Given the description of an element on the screen output the (x, y) to click on. 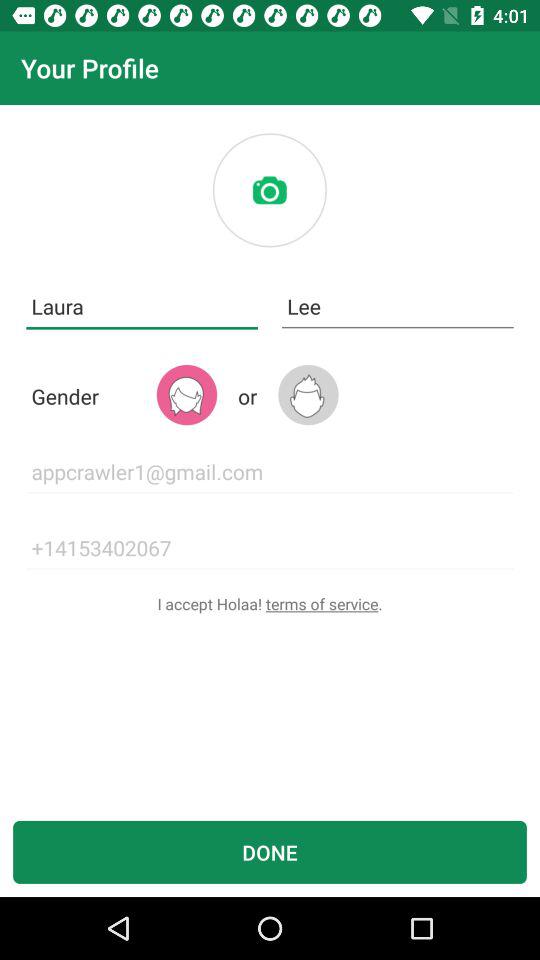
flip until the lee icon (397, 306)
